Given the description of an element on the screen output the (x, y) to click on. 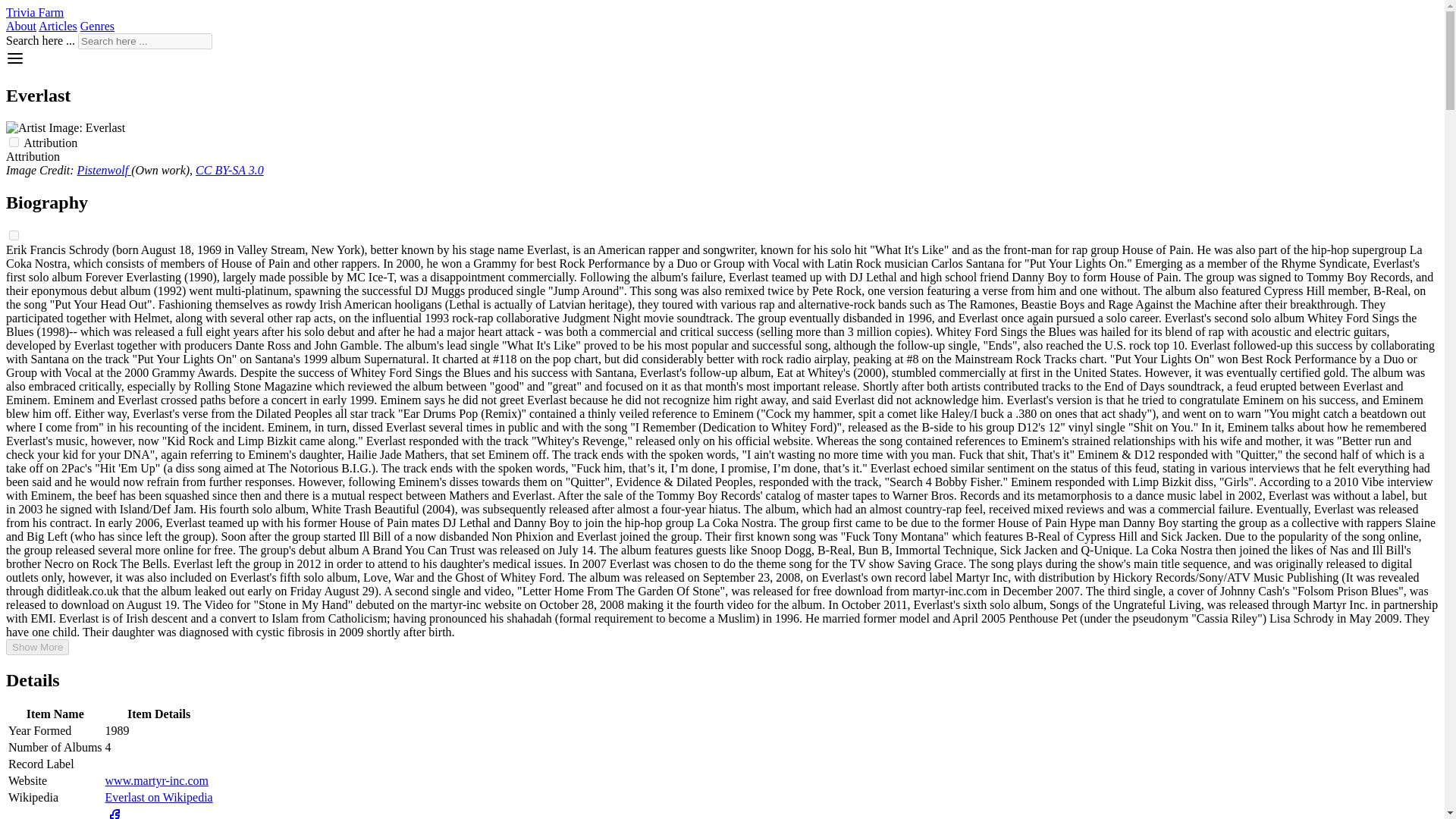
About (20, 25)
Show More (36, 647)
Trivia Farm (34, 11)
CC BY-SA 3.0 (229, 169)
Pistenwolf (104, 169)
on (13, 142)
on (13, 235)
Everlast on Wikipedia (158, 797)
Everlast on Facebook (113, 816)
Genres (97, 25)
Articles (58, 25)
www.martyr-inc.com (156, 780)
